Given the description of an element on the screen output the (x, y) to click on. 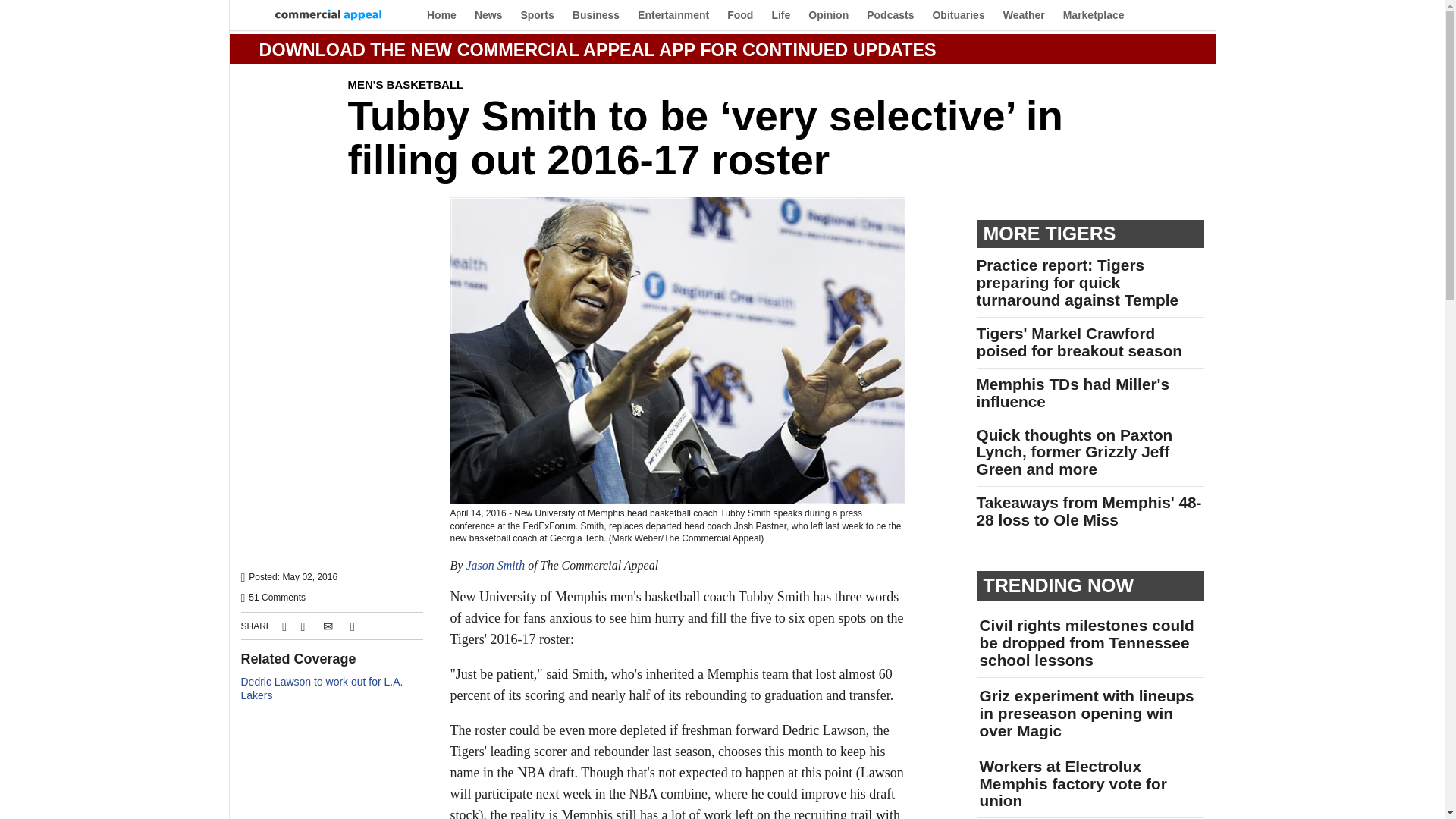
Share this via e-mail (327, 626)
Jason Smith (494, 564)
Share this on Facebook (282, 626)
MEN'S BASKETBALL (405, 83)
Dedric Lawson to work out for L.A. Lakers (322, 688)
DOWNLOAD THE NEW COMMERCIAL APPEAL APP FOR CONTINUED UPDATES (597, 48)
Print this (352, 626)
51 Comments (276, 597)
Share this on Twitter (302, 626)
